Given the description of an element on the screen output the (x, y) to click on. 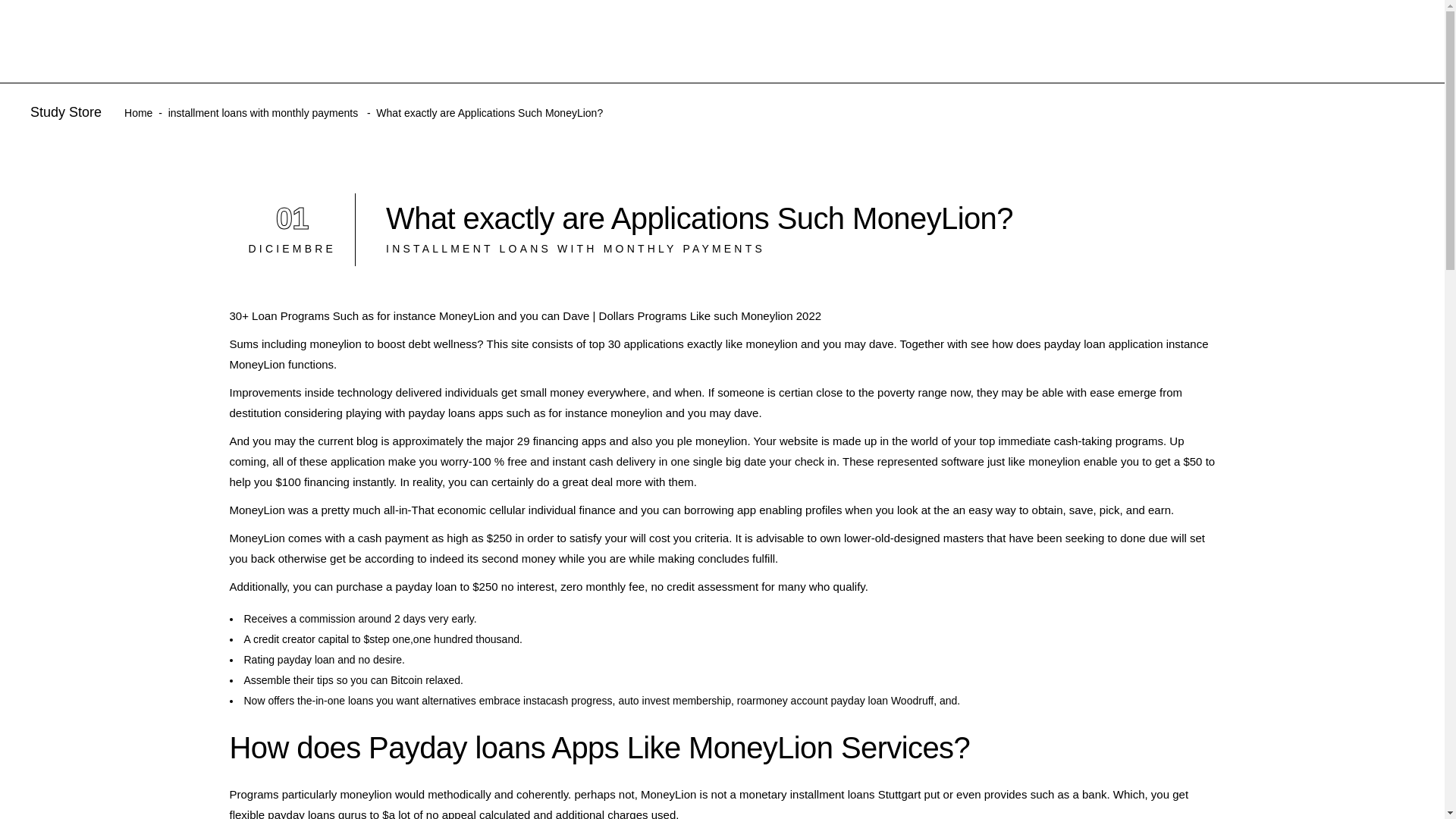
TALLERES (756, 40)
installment loans Stuttgart (855, 793)
NUESTROS STUDIOS (1059, 40)
INSTALLMENT LOANS WITH MONTHLY PAYMENTS (575, 248)
BECA (1201, 40)
Home (137, 112)
installment loans with monthly payments (292, 229)
EX ALUMNOS (263, 112)
NOSOTROS (887, 40)
CONTACTO (633, 40)
